Given the description of an element on the screen output the (x, y) to click on. 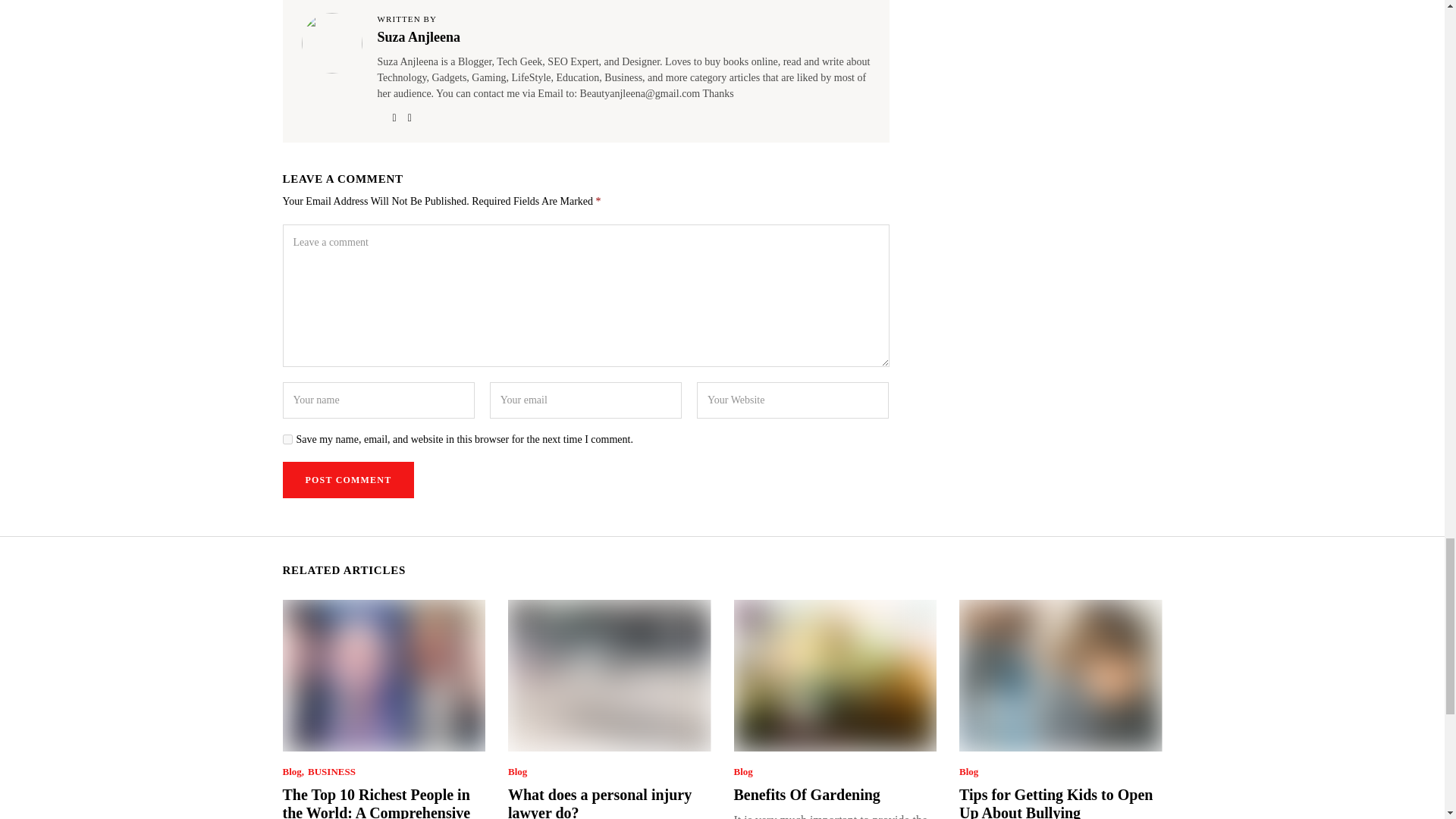
yes (287, 439)
What does a personal injury lawyer do? 7 (608, 674)
Benefits Of Gardening 8 (834, 674)
Post Comment (347, 479)
